Given the description of an element on the screen output the (x, y) to click on. 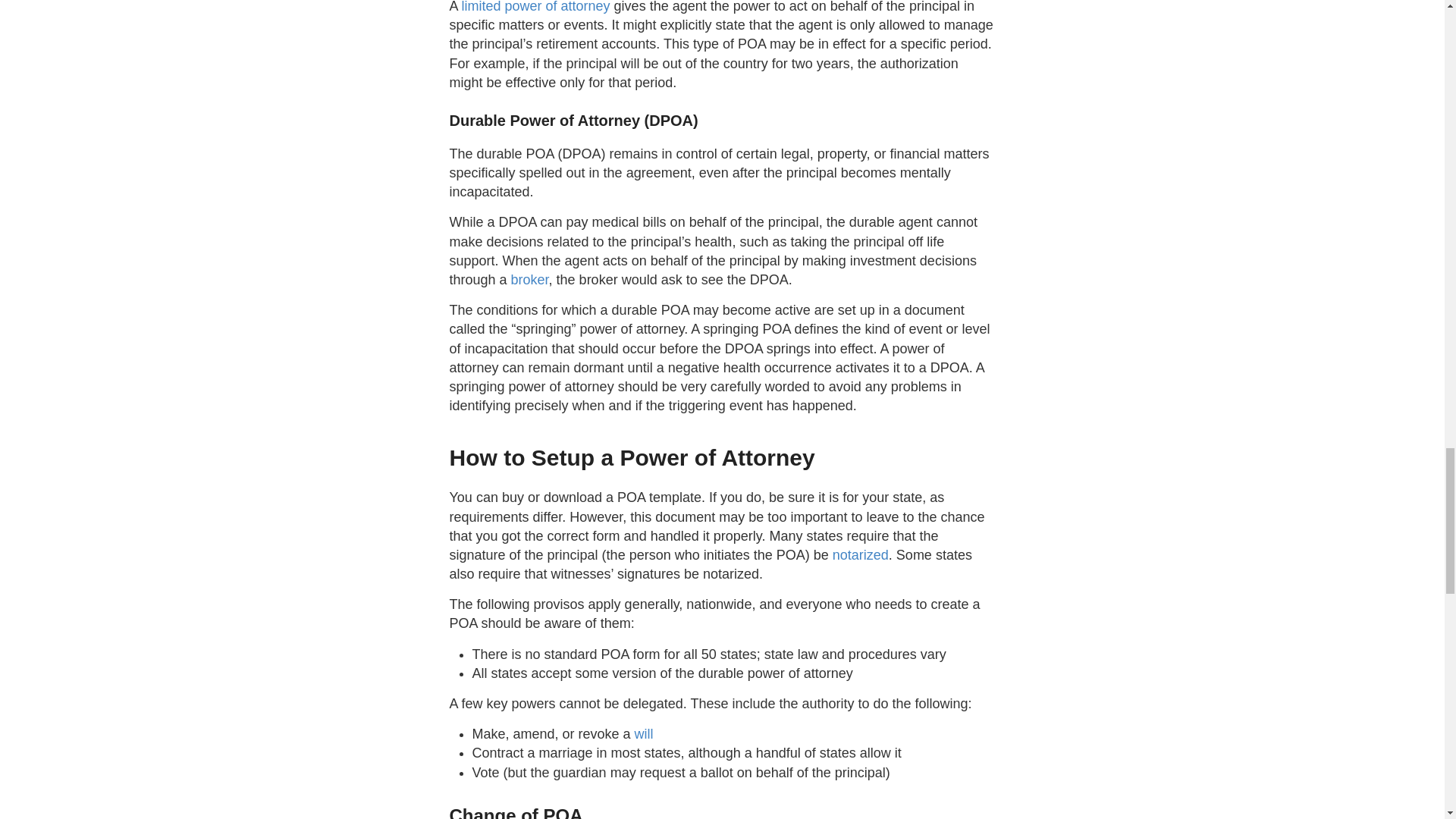
broker (529, 279)
will (643, 734)
notarized (860, 554)
limited power of attorney (535, 6)
